Given the description of an element on the screen output the (x, y) to click on. 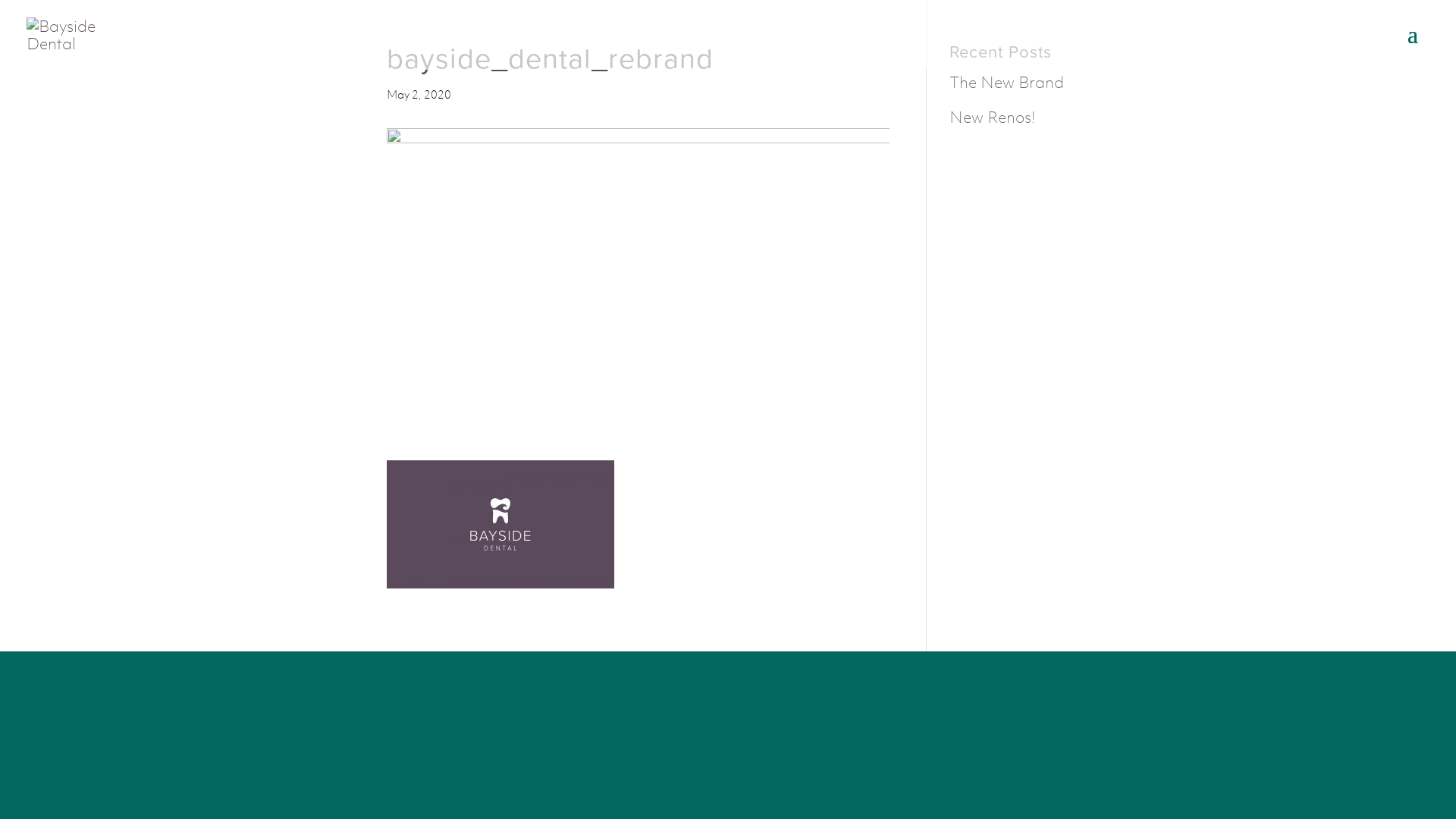
New Renos! Element type: text (992, 116)
The New Brand Element type: text (1006, 81)
